Given the description of an element on the screen output the (x, y) to click on. 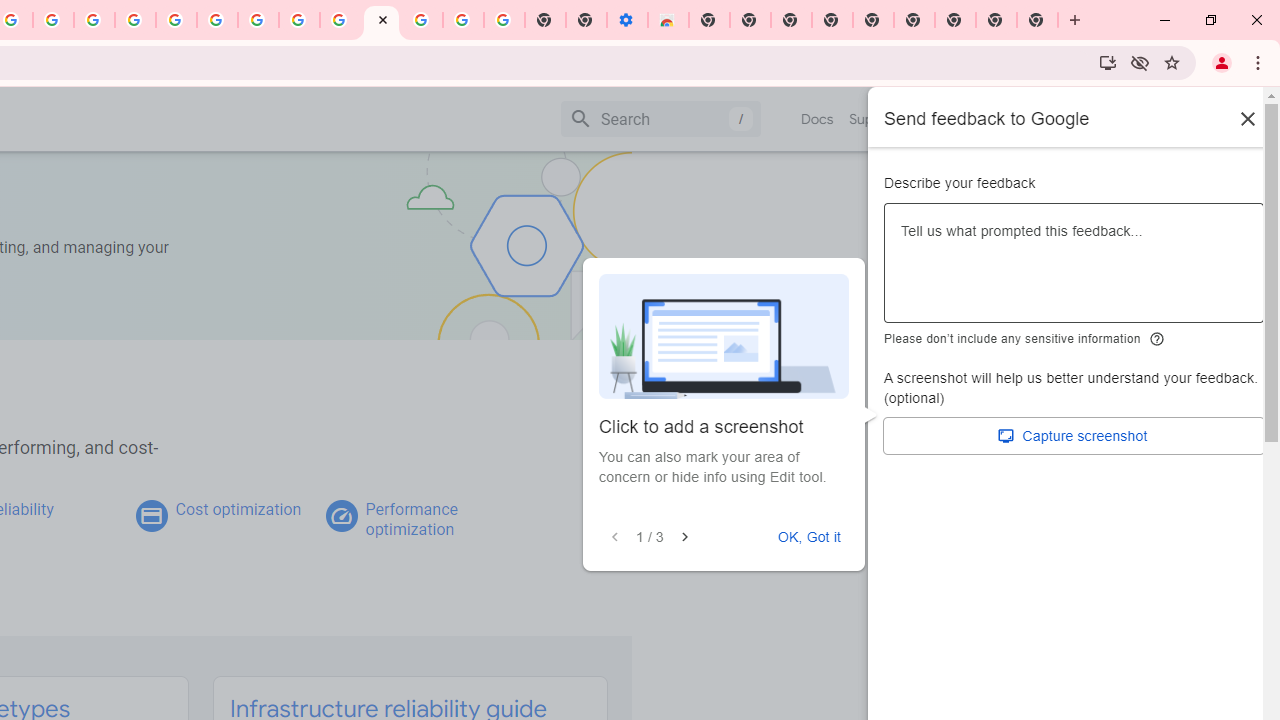
Describe your feedback (1074, 271)
Ad Settings (135, 20)
Previous (614, 537)
Create your Google Account (53, 20)
English (985, 118)
Chrome Web Store - Accessibility extensions (667, 20)
New Tab (1037, 20)
Install Google Cloud (1107, 62)
Google Account Help (462, 20)
